Given the description of an element on the screen output the (x, y) to click on. 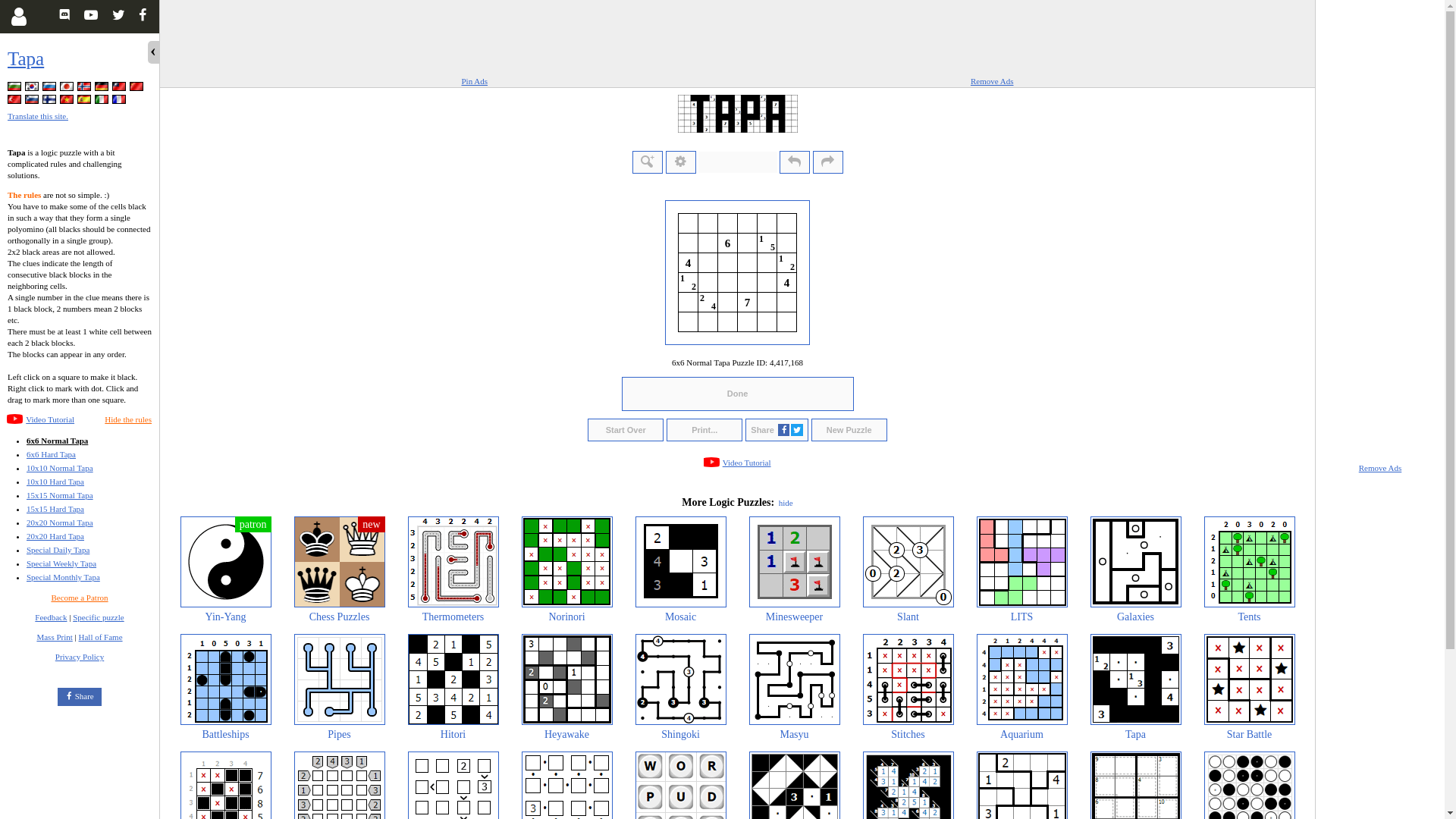
6x6 Hard Tapa (50, 453)
Specific puzzle (97, 616)
   New Puzzle    (848, 429)
Video Tutorial (50, 419)
Become a Patron (78, 596)
Feedback (50, 616)
Mass Print (53, 636)
20x20 Normal Tapa (59, 522)
   Start Over    (625, 429)
15x15 Normal Tapa (59, 494)
Translate this site. (37, 115)
Video Tutorial (50, 419)
 Print...  (704, 429)
20x20 Hard Tapa (55, 535)
15x15 Hard Tapa (55, 508)
